Given the description of an element on the screen output the (x, y) to click on. 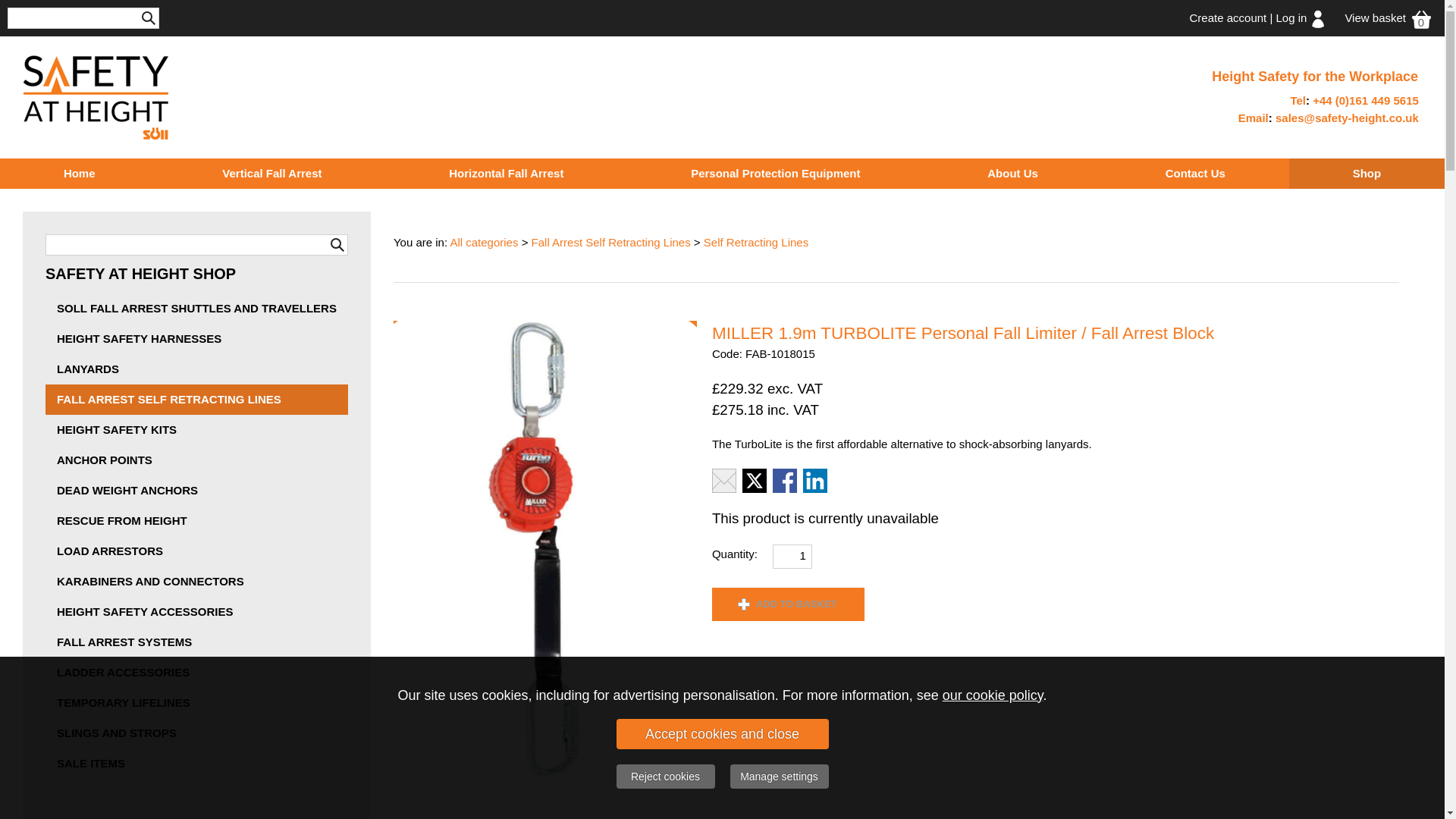
Log in (1291, 17)
0 (1421, 18)
1 (792, 556)
View basket (1374, 17)
Create account (1227, 17)
Home (79, 173)
